Given the description of an element on the screen output the (x, y) to click on. 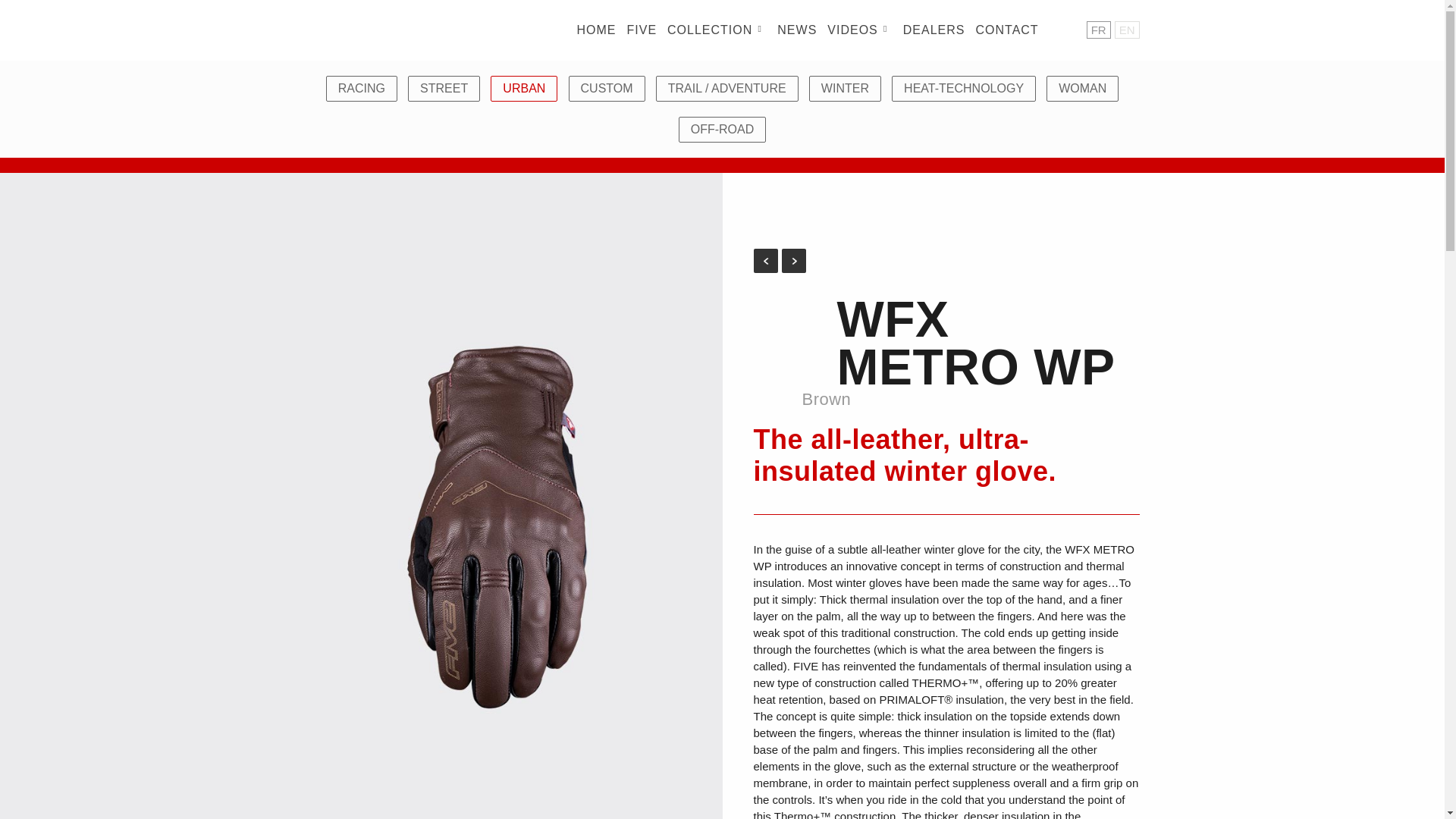
FR (1098, 29)
EN (1127, 29)
CONTACT (1007, 30)
DEALERS (935, 30)
COLLECTION (717, 30)
VIDEOS (860, 30)
